Given the description of an element on the screen output the (x, y) to click on. 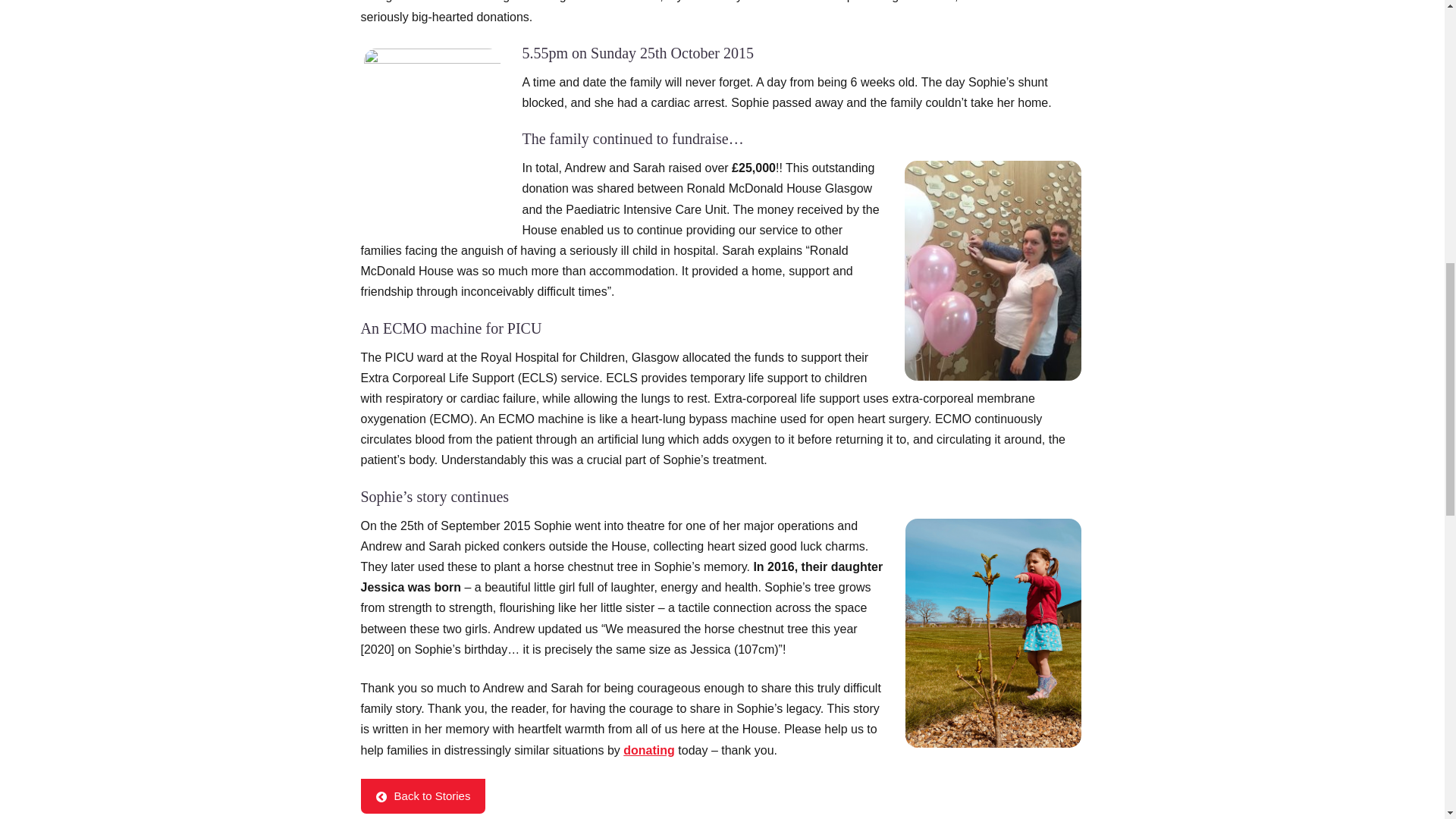
Back to Stories (423, 796)
donating (649, 749)
button-arrow--reverse (381, 796)
